Given the description of an element on the screen output the (x, y) to click on. 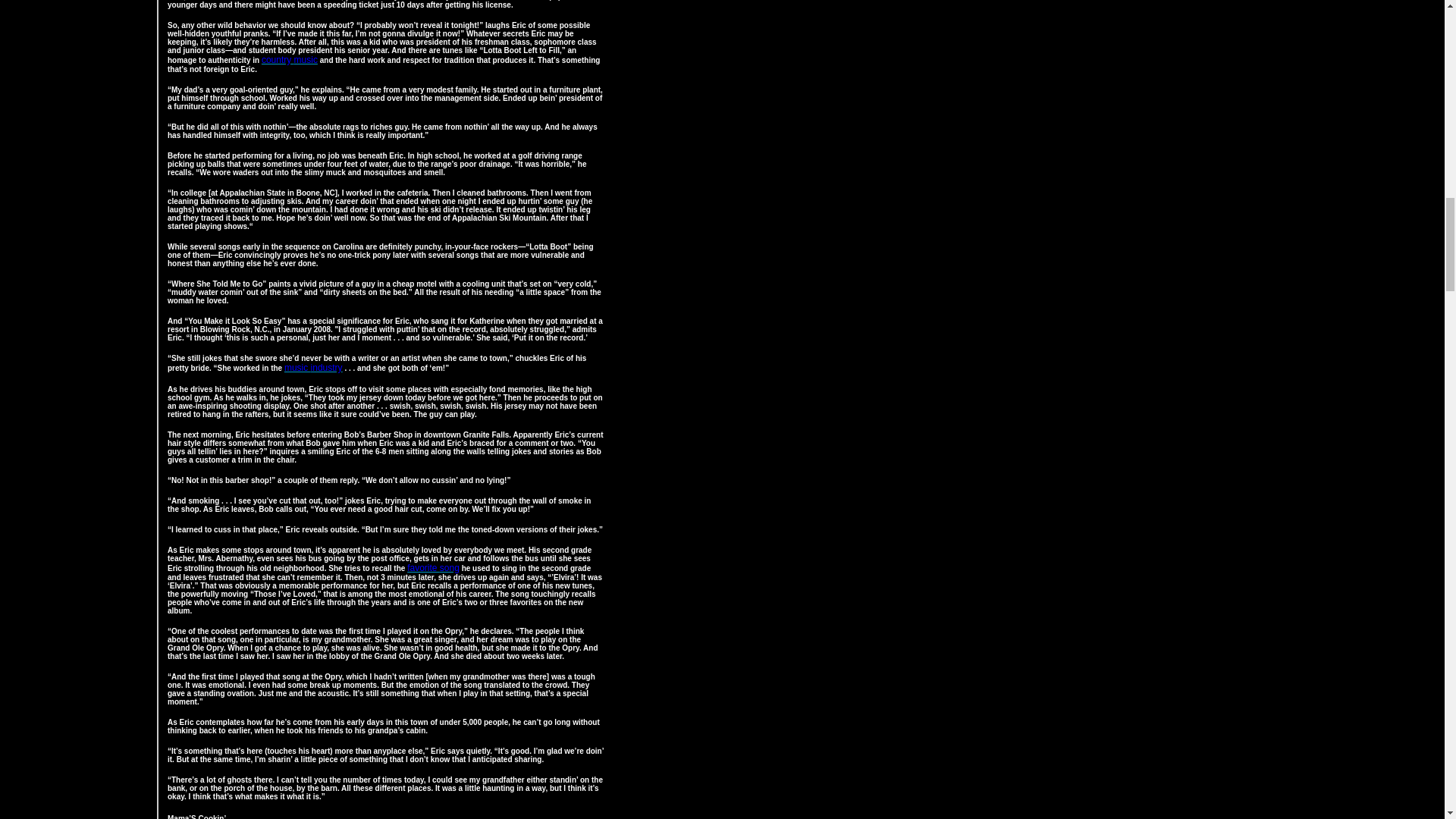
favorite song (433, 566)
country music (289, 58)
music industry (312, 366)
